Given the description of an element on the screen output the (x, y) to click on. 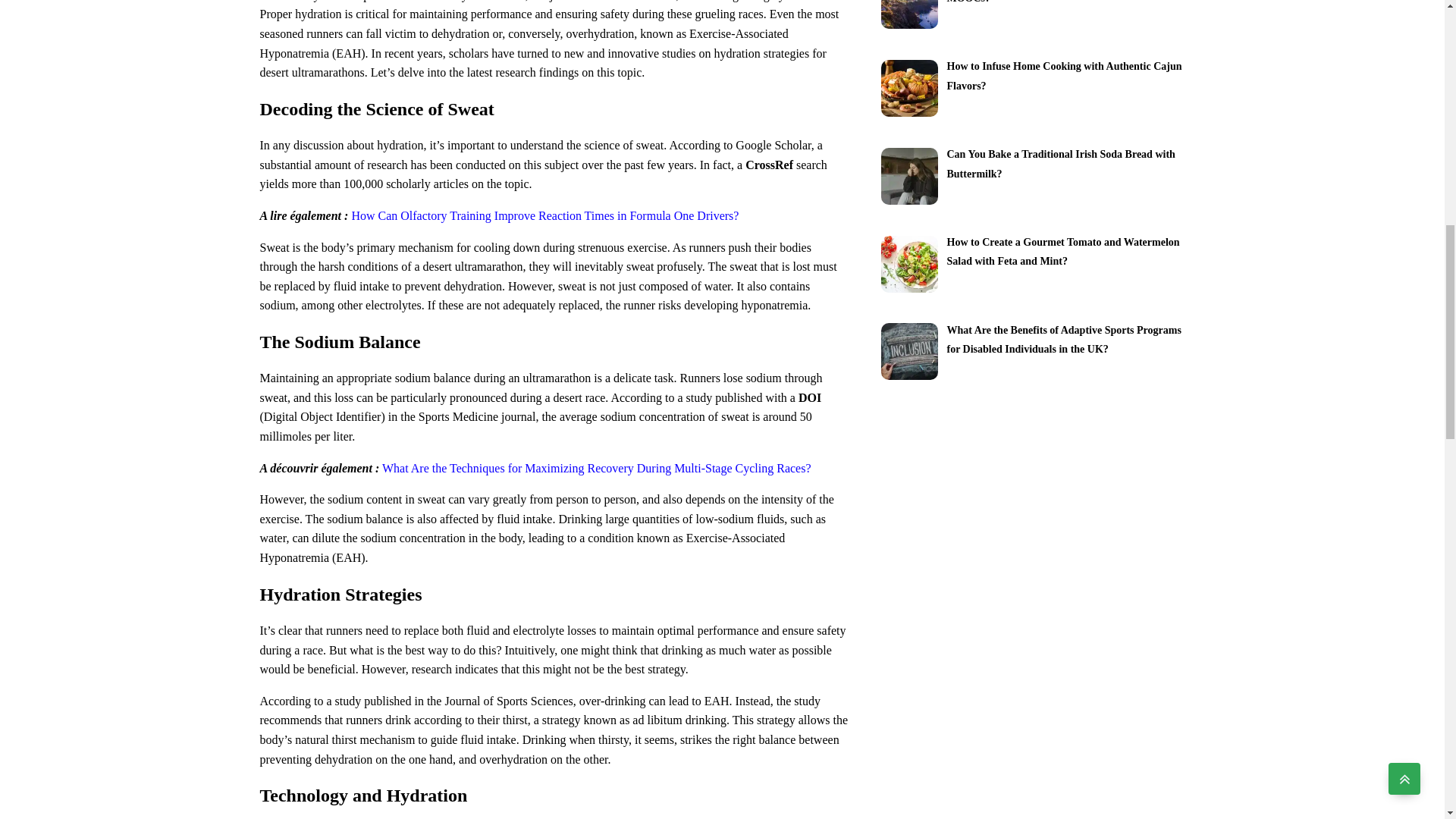
How Is AI Enabling Personalized Learning Paths in MOOCs? (1063, 2)
Can You Bake a Traditional Irish Soda Bread with Buttermilk? (1060, 163)
How to Infuse Home Cooking with Authentic Cajun Flavors? (1063, 74)
